Given the description of an element on the screen output the (x, y) to click on. 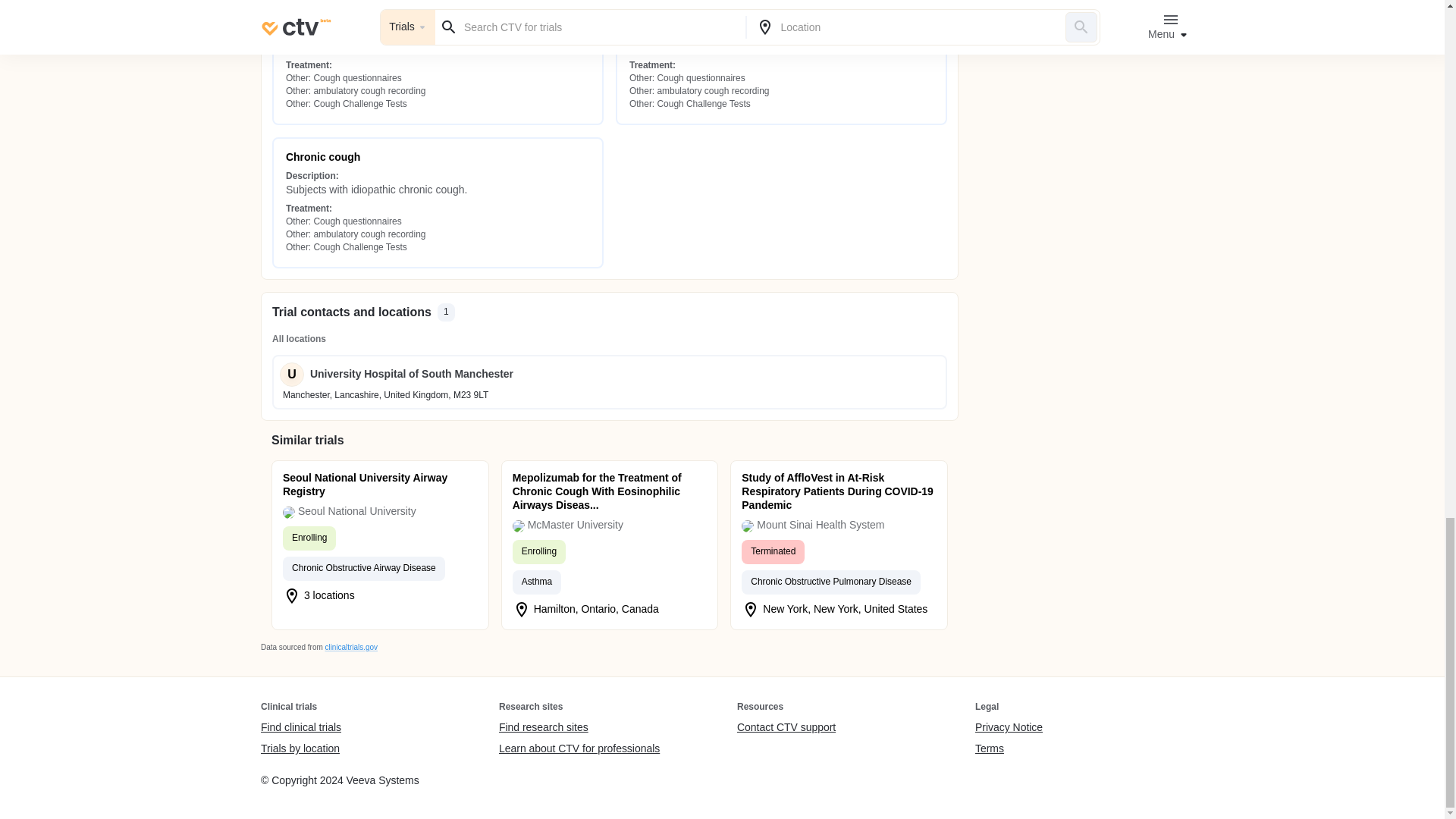
Find clinical trials (300, 727)
clinicaltrials.gov (350, 646)
Privacy Notice (1008, 727)
Terms (1008, 748)
Contact CTV support (785, 727)
Find research sites (579, 727)
Learn about CTV for professionals (579, 748)
Trials by location (300, 748)
